Given the description of an element on the screen output the (x, y) to click on. 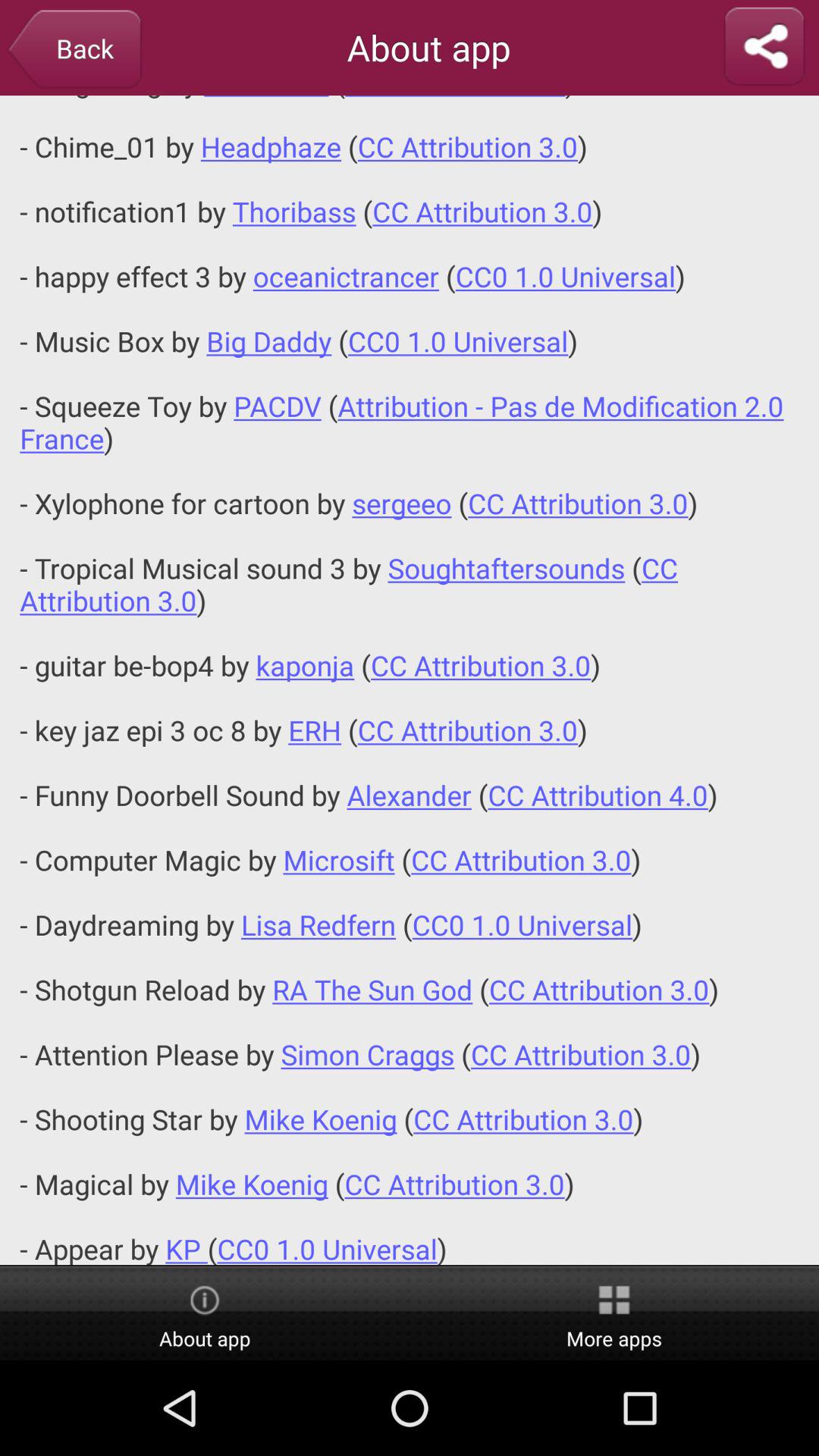
turn on the item next to the about app (764, 47)
